Given the description of an element on the screen output the (x, y) to click on. 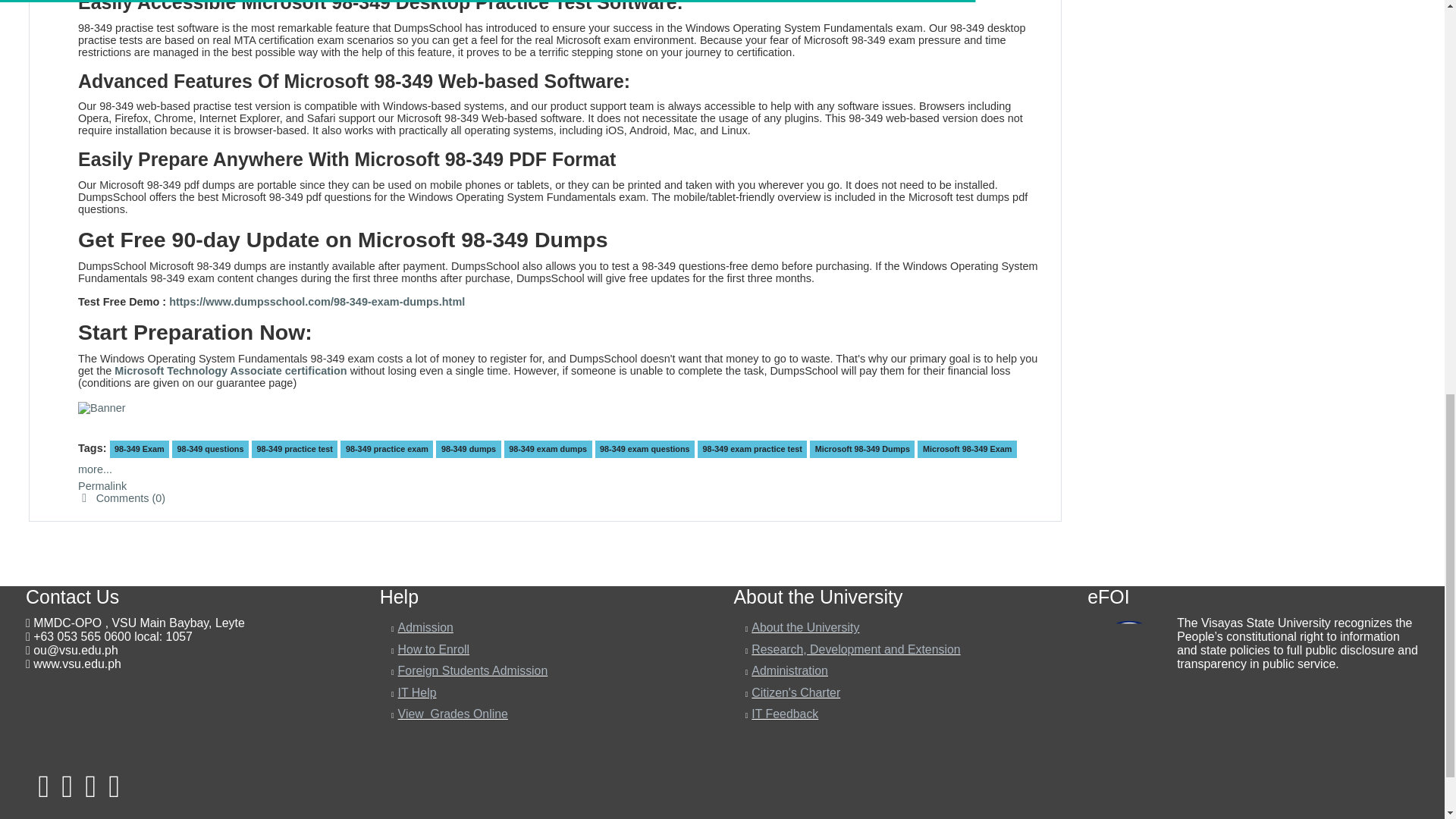
Permalink (102, 485)
Microsoft 98-349 Dumps (861, 448)
98-349 Exam (138, 448)
98-349 questions (209, 448)
98-349 practice exam (386, 448)
98-349 exam questions (645, 448)
98-349 exam dumps (547, 448)
98-349 practice test (294, 448)
98-349 exam practice test (751, 448)
Microsoft Technology Associate certification (230, 370)
